Given the description of an element on the screen output the (x, y) to click on. 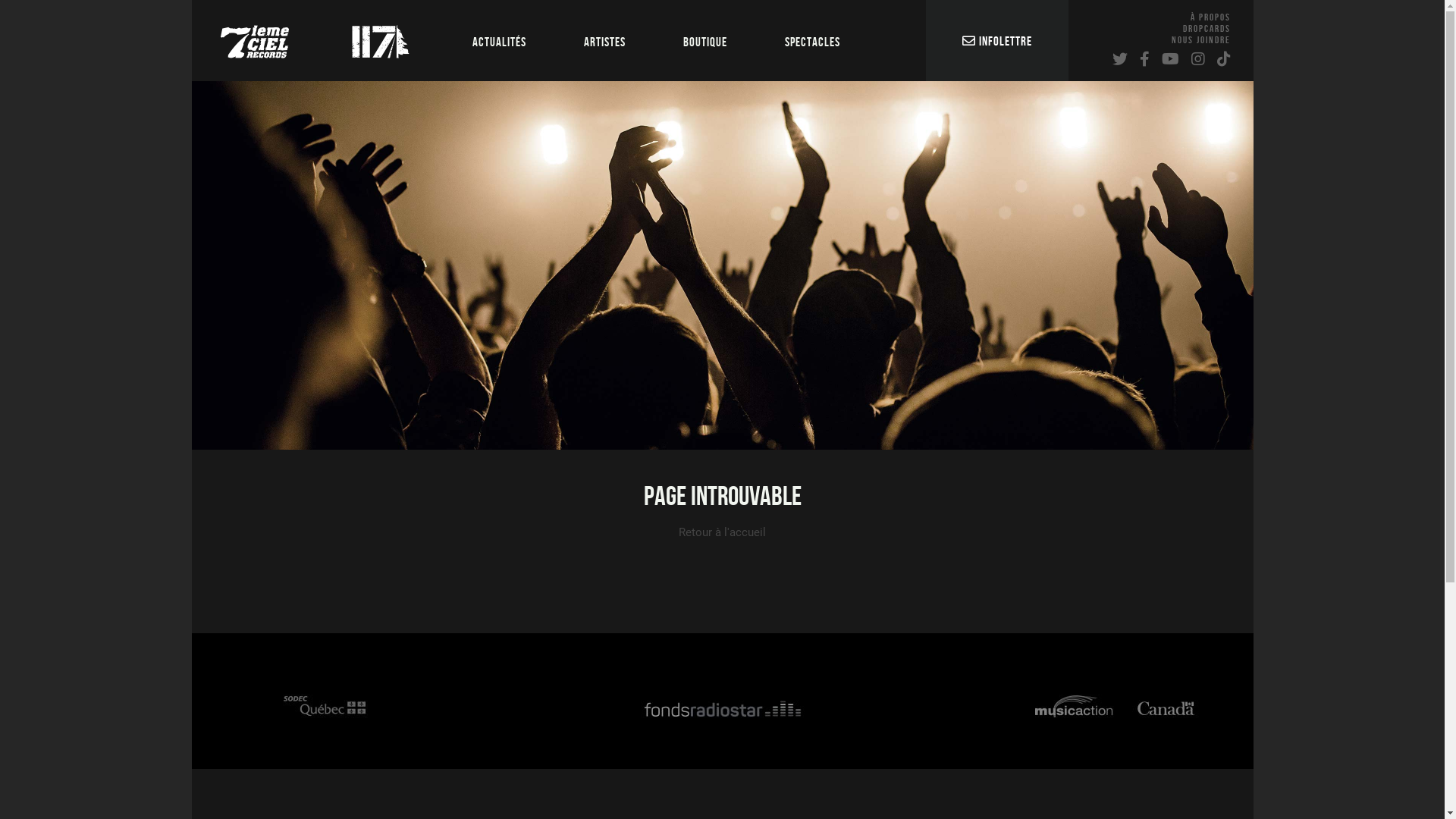
Dropcards Element type: text (1206, 28)
BOUTIQUE Element type: text (704, 40)
Nous joindre Element type: text (1200, 40)
INFOLETTRE Element type: text (996, 41)
ARTISTES Element type: text (604, 40)
SPECTACLES Element type: text (811, 40)
